Given the description of an element on the screen output the (x, y) to click on. 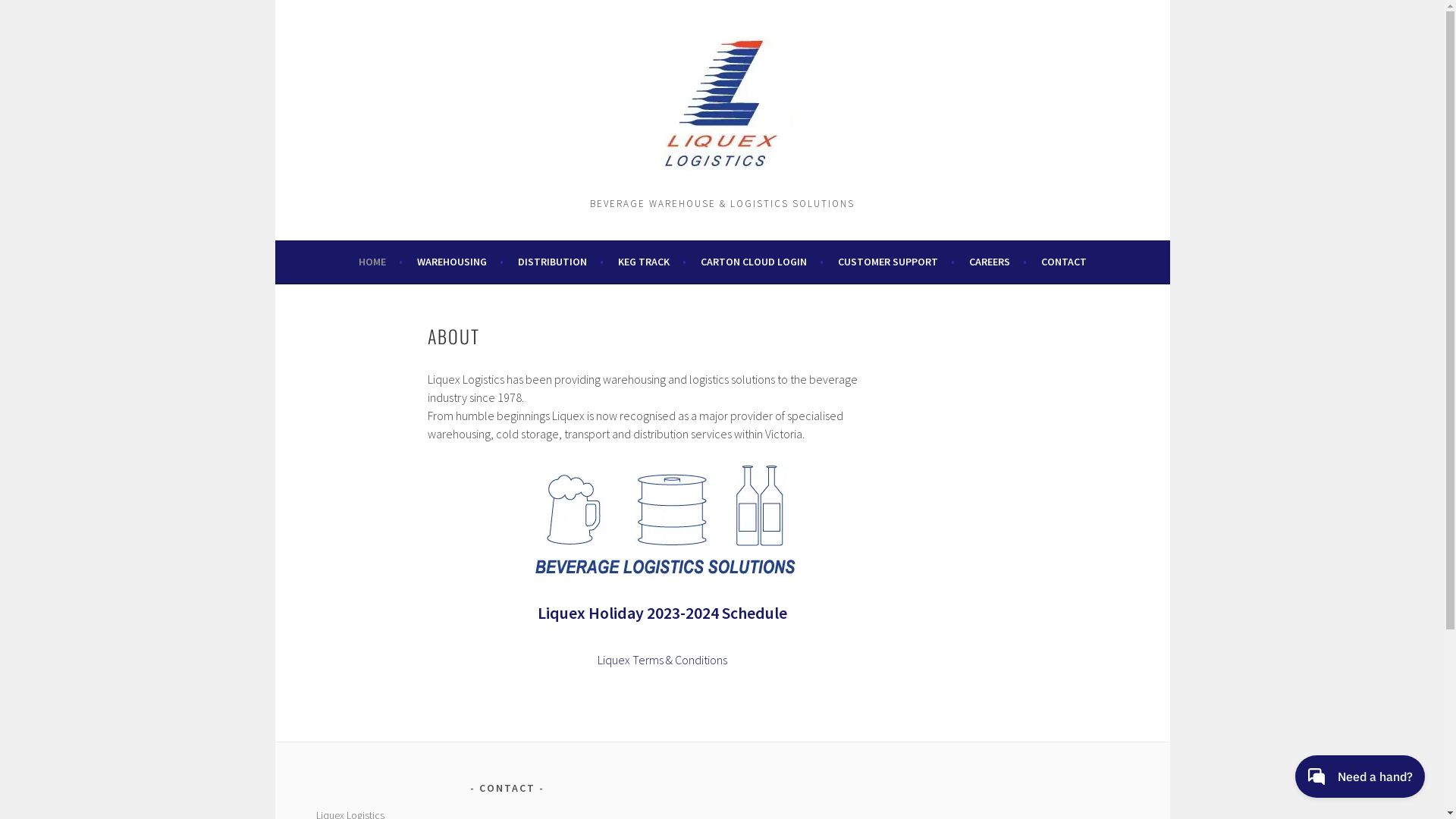
CARTON CLOUD LOGIN Element type: text (761, 261)
CONTACT Element type: text (1062, 261)
Liquex Terms & Conditions Element type: text (662, 659)
CUSTOMER SUPPORT Element type: text (895, 261)
WAREHOUSING Element type: text (460, 261)
CAREERS Element type: text (997, 261)
Website support platform help button Element type: hover (1359, 777)
DISTRIBUTION Element type: text (559, 261)
Liquex Holiday 2023-2024 Schedule Element type: text (662, 612)
HOME Element type: text (379, 261)
KEG TRACK Element type: text (651, 261)
